Given the description of an element on the screen output the (x, y) to click on. 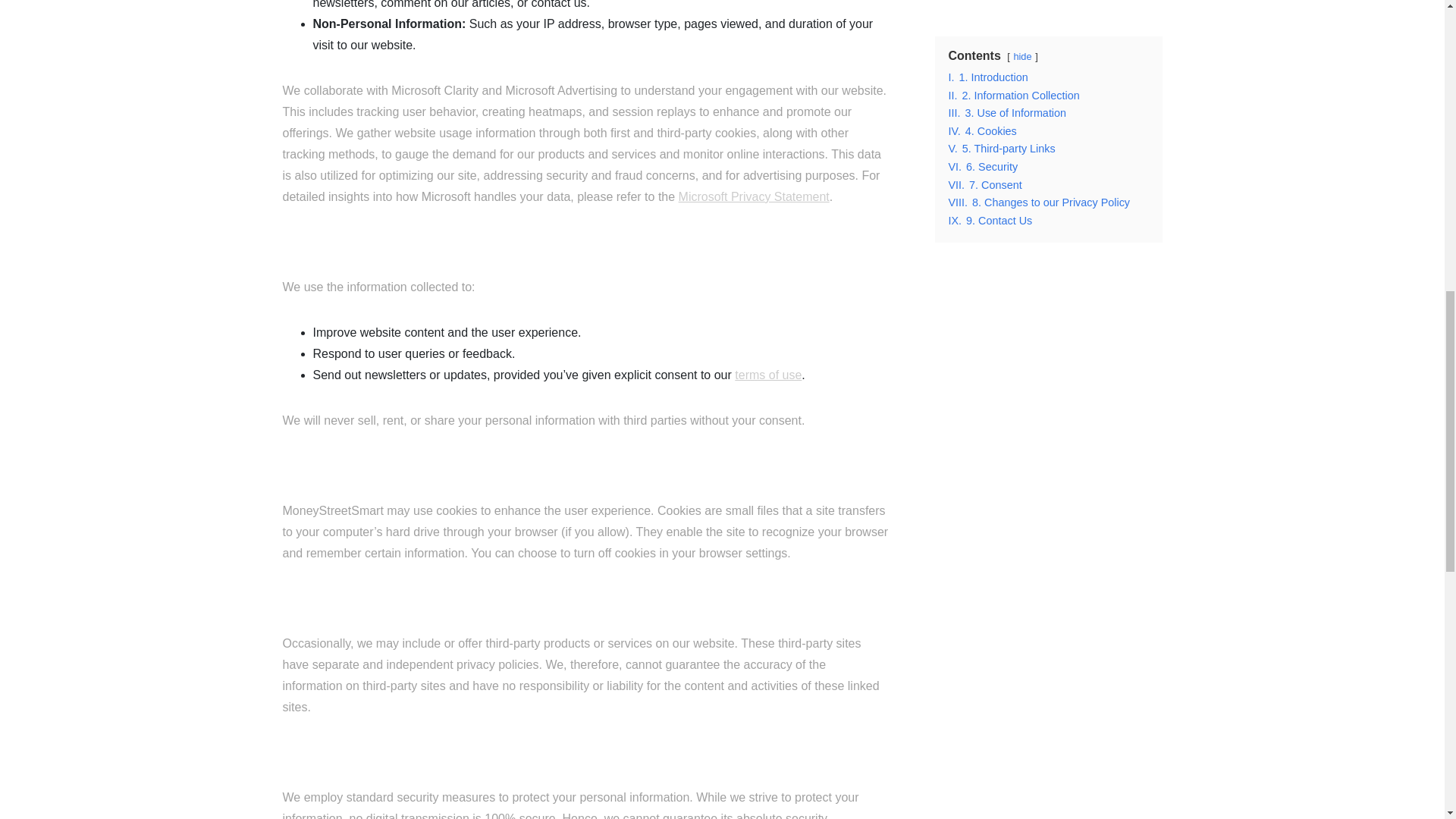
terms of use (768, 374)
Microsoft Privacy Statement (753, 196)
